Given the description of an element on the screen output the (x, y) to click on. 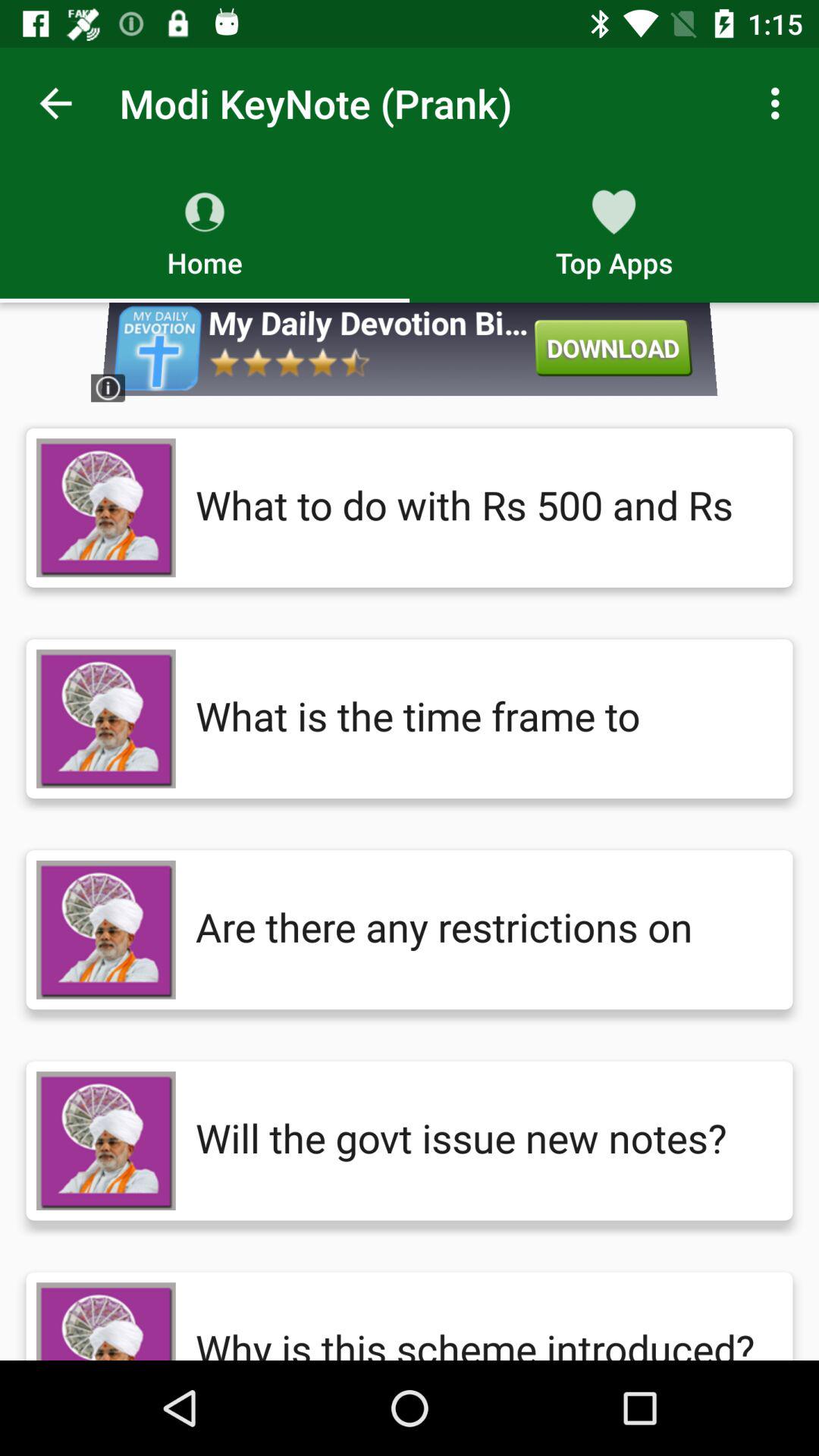
scroll until the will the govt icon (478, 1140)
